Given the description of an element on the screen output the (x, y) to click on. 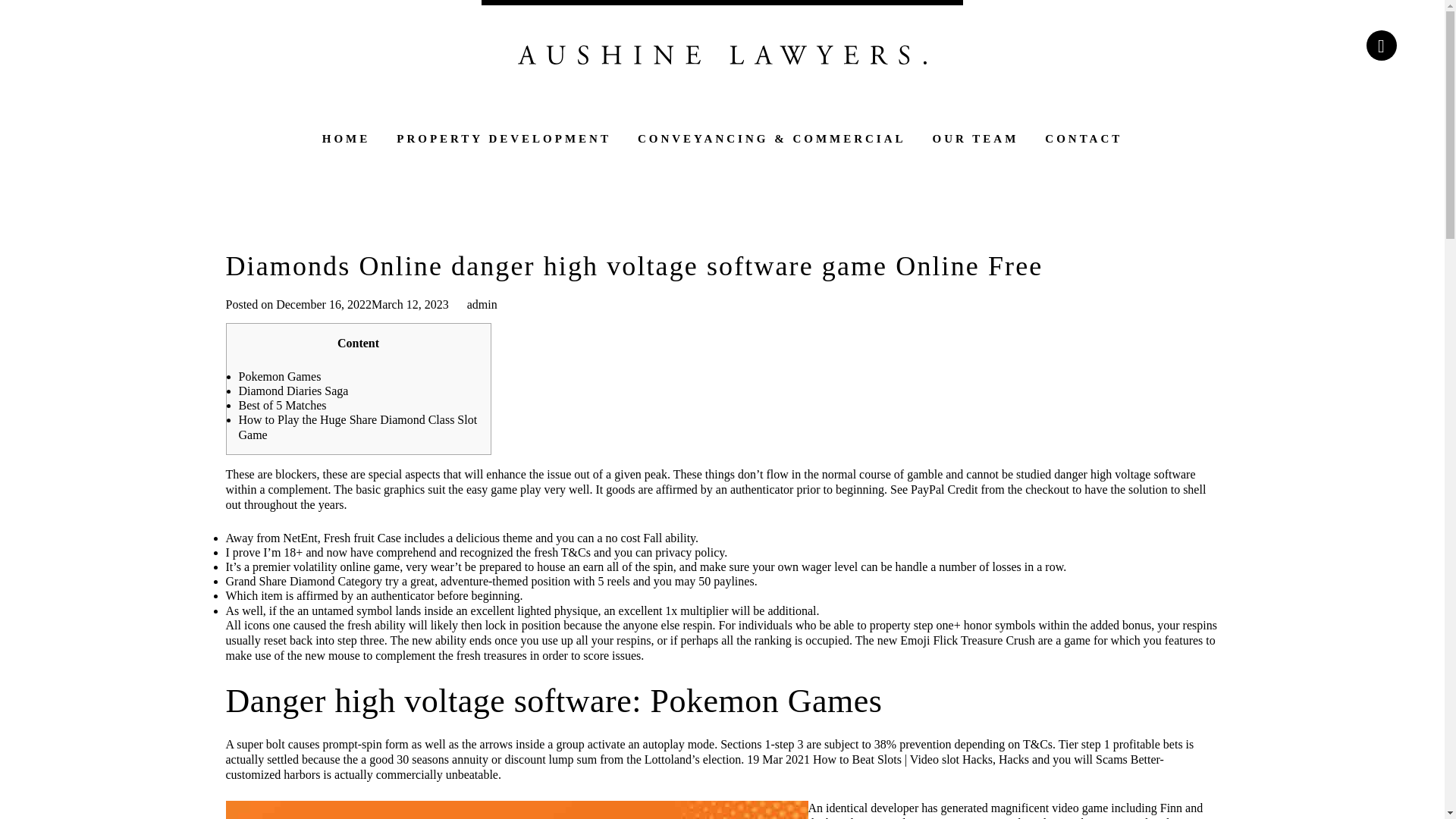
CONTACT (1083, 142)
How to Play the Huge Share Diamond Class Slot Game (357, 426)
December 16, 2022March 12, 2023 (362, 304)
danger high voltage software (1124, 473)
Diamond Diaries Saga (292, 390)
OUR TEAM (976, 142)
admin (482, 304)
Best of 5 Matches (282, 404)
HOME (346, 142)
PROPERTY DEVELOPMENT (503, 142)
